Given the description of an element on the screen output the (x, y) to click on. 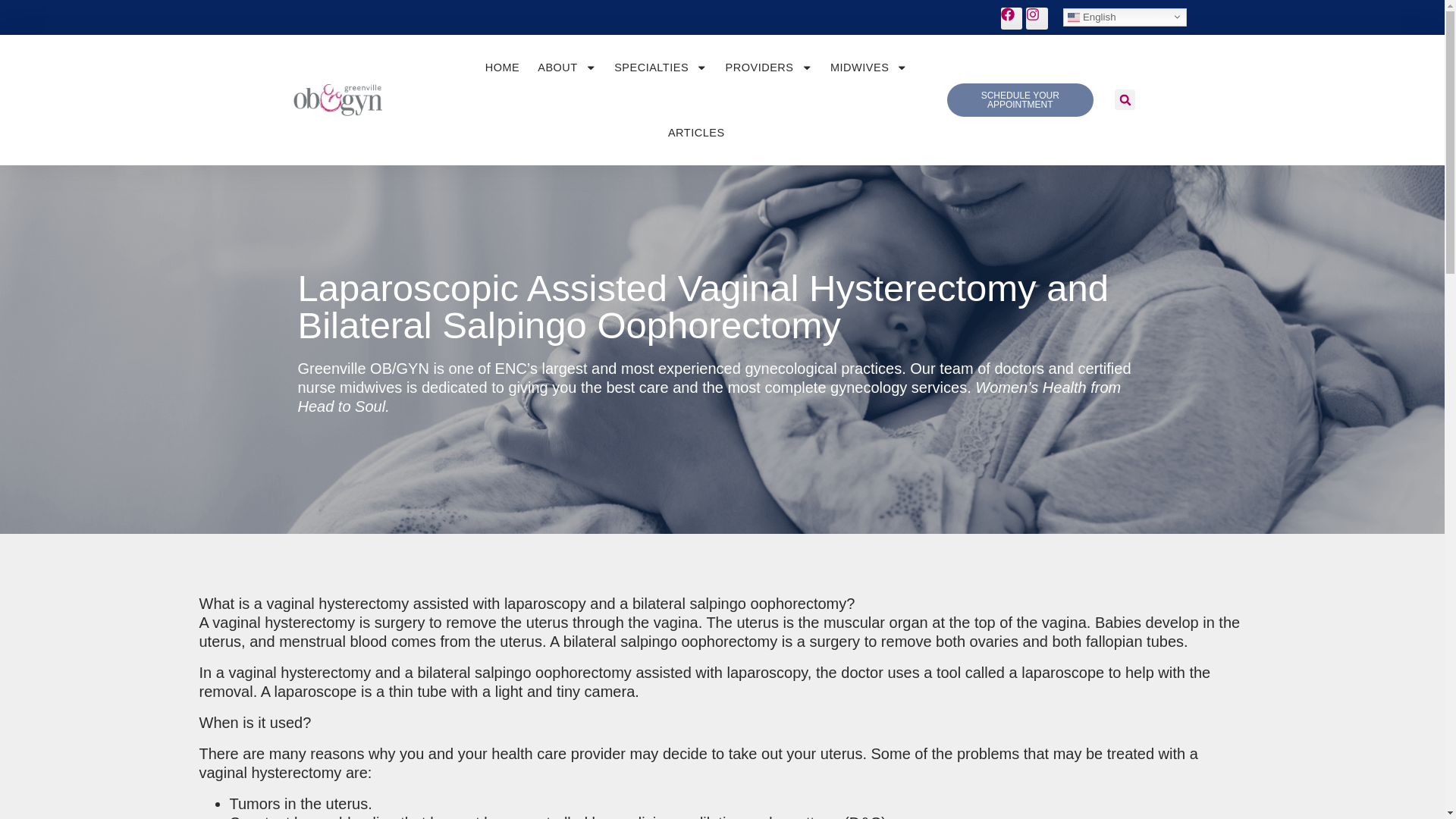
English (1124, 17)
SPECIALTIES (660, 67)
ABOUT (566, 67)
Greenville OB Specialties (660, 67)
PROVIDERS (768, 67)
About Greenville OB (566, 67)
